Given the description of an element on the screen output the (x, y) to click on. 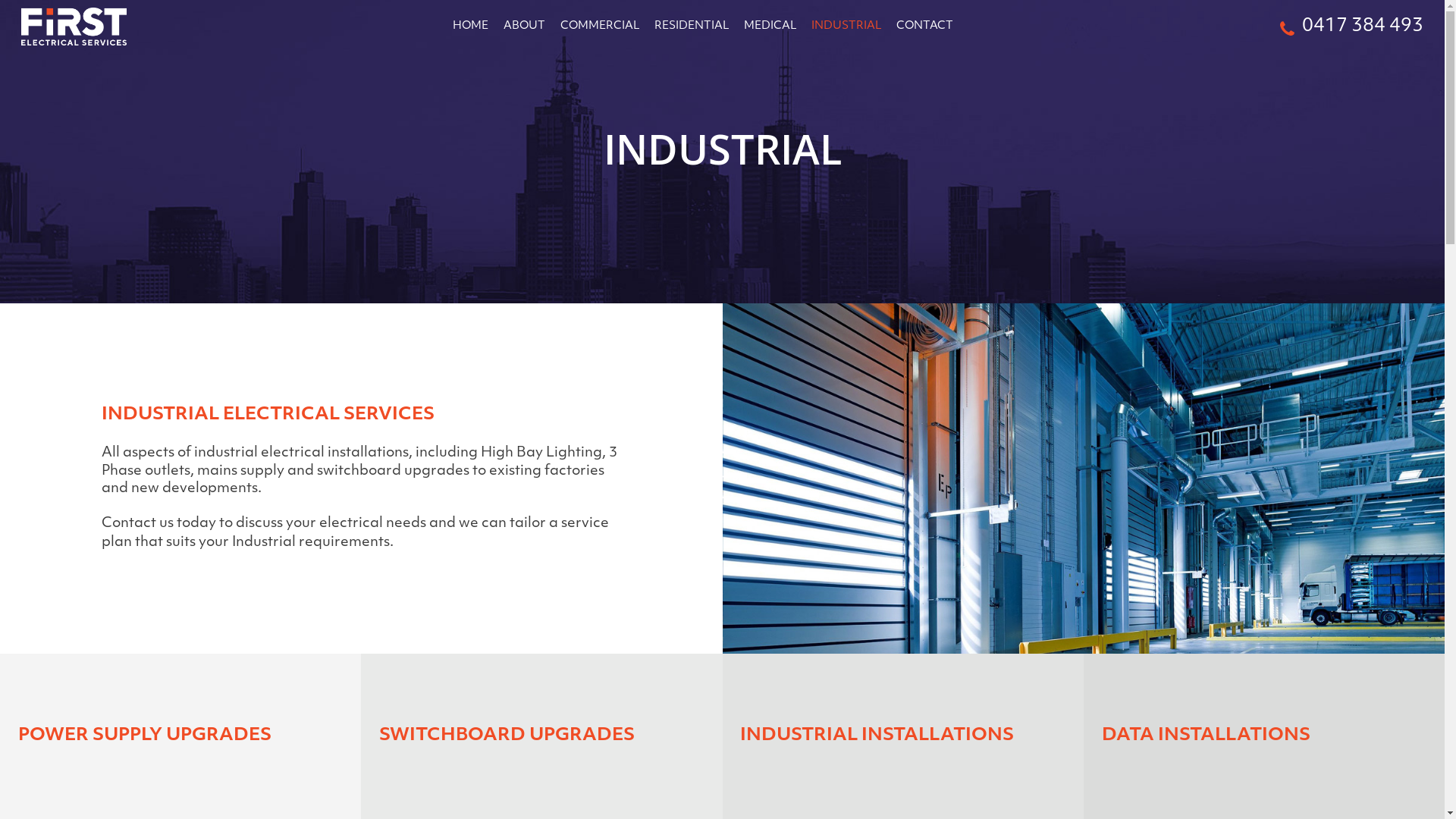
CONTACT Element type: text (924, 26)
MEDICAL Element type: text (769, 26)
0417 384 493 Element type: text (1351, 26)
HOME Element type: text (470, 26)
INDUSTRIAL Element type: text (845, 26)
RESIDENTIAL Element type: text (691, 26)
COMMERCIAL Element type: text (599, 26)
ABOUT Element type: text (523, 26)
